Given the description of an element on the screen output the (x, y) to click on. 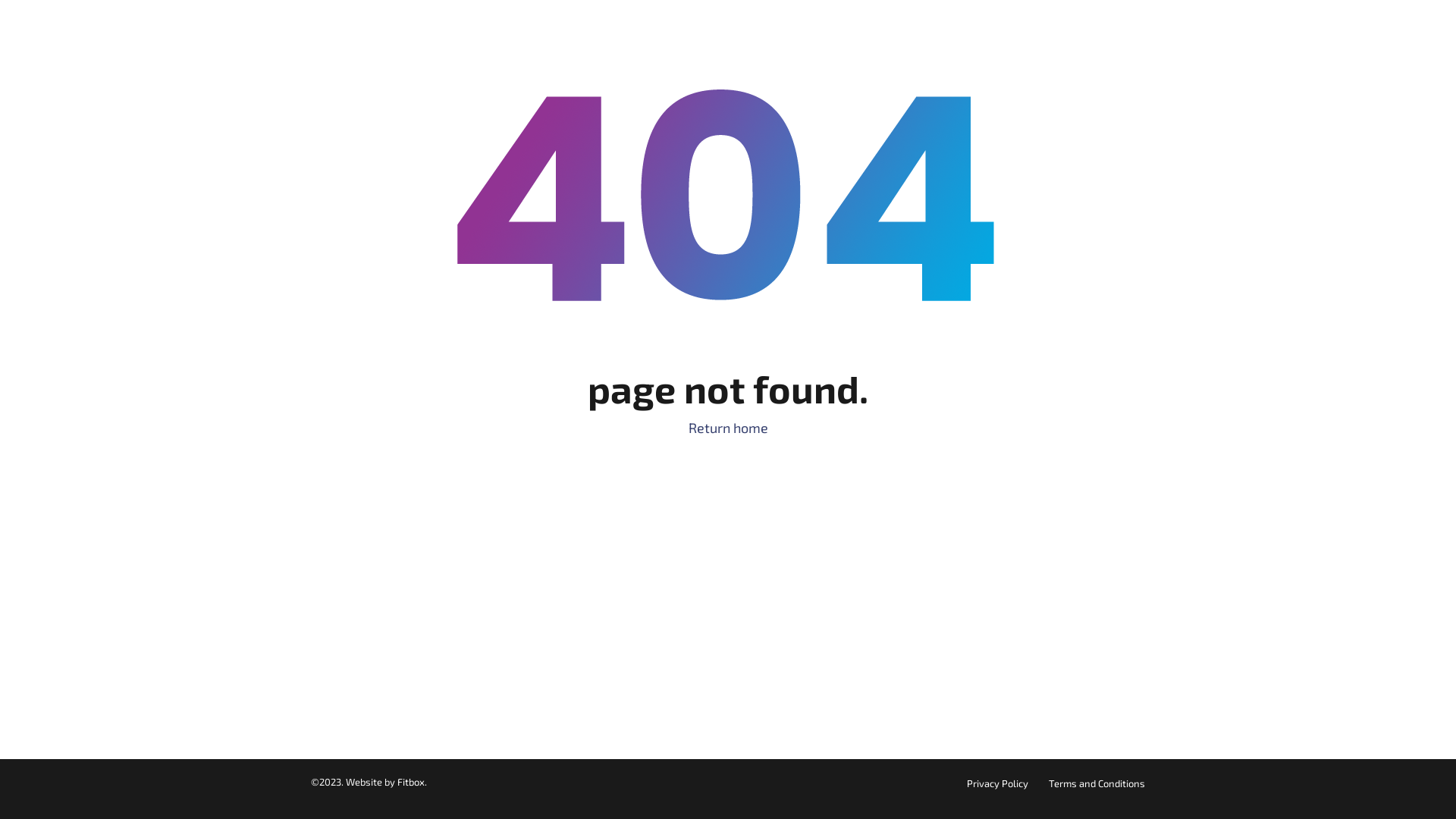
Privacy Policy Element type: text (997, 783)
Terms and Conditions Element type: text (1096, 783)
Return home Element type: text (728, 427)
Fitbox. Element type: text (411, 781)
